Given the description of an element on the screen output the (x, y) to click on. 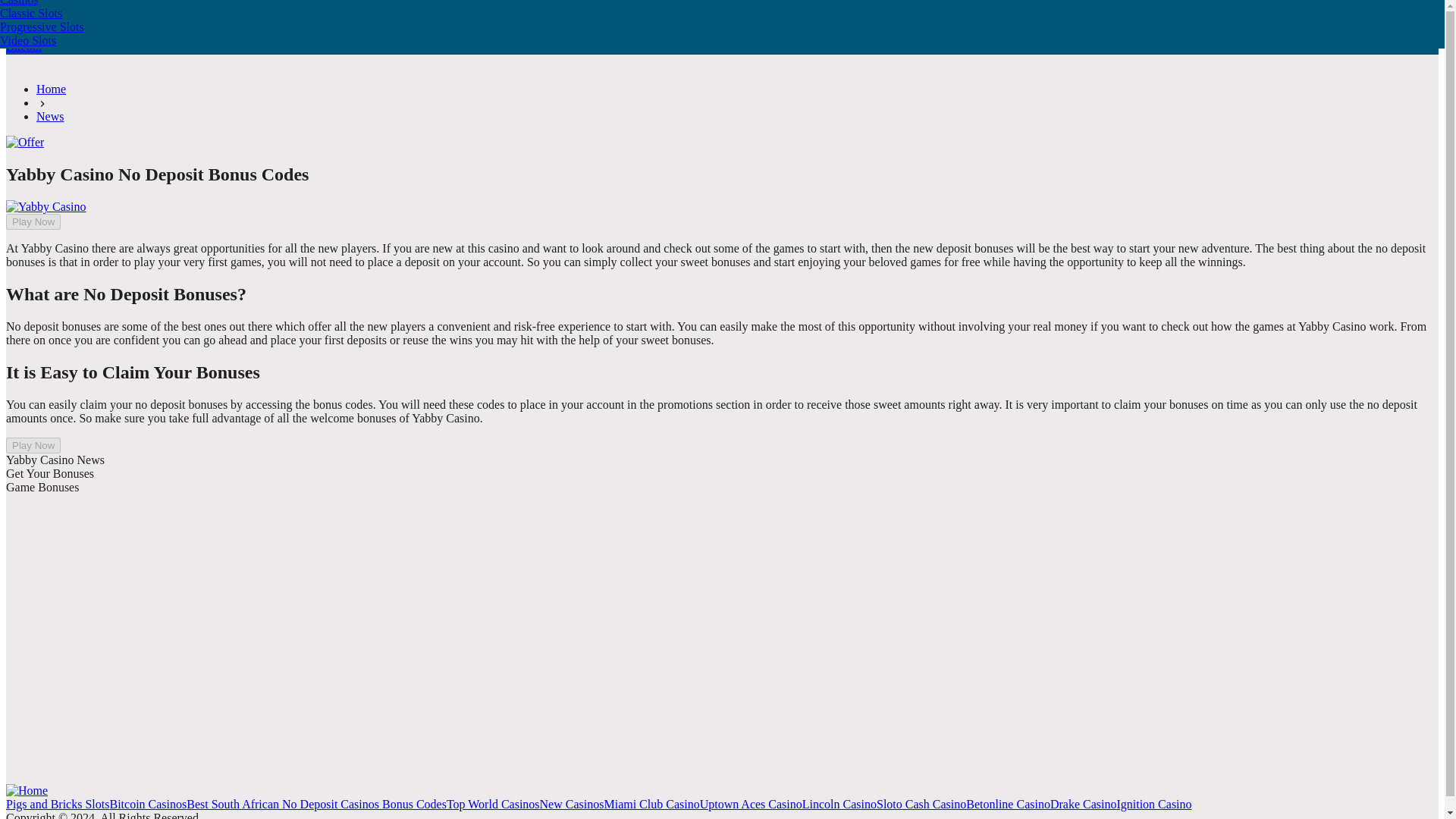
Play Now (33, 445)
Progressive Slots (42, 26)
Miami Club Casino (651, 803)
Top World Casinos (493, 803)
Pigs and Bricks Slots (57, 803)
Home (50, 88)
Best South African No Deposit Casinos Bonus Codes (316, 803)
Drake Casino (1082, 803)
Bitcoin Casinos (147, 803)
Play Now (74, 13)
Classic Slots (42, 12)
Betonline Casino (1007, 803)
Casinos (42, 2)
Video Slots (42, 39)
Lincoln Casino (839, 803)
